Given the description of an element on the screen output the (x, y) to click on. 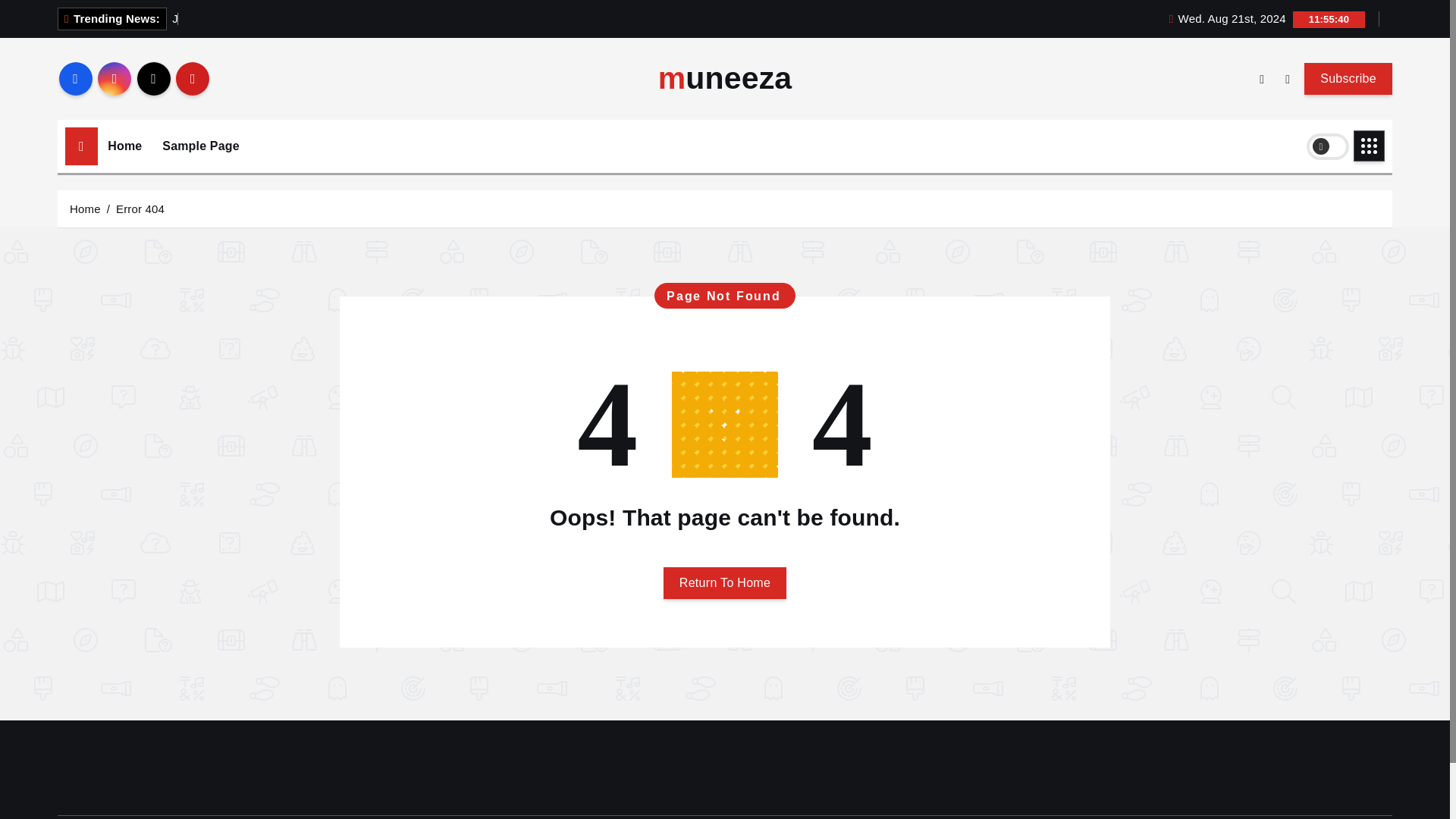
Home (124, 146)
Home (84, 207)
Sample Page (200, 146)
Return To Home (724, 582)
Home (124, 146)
Error 404 (140, 207)
muneeza (725, 78)
Subscribe (1347, 78)
